Given the description of an element on the screen output the (x, y) to click on. 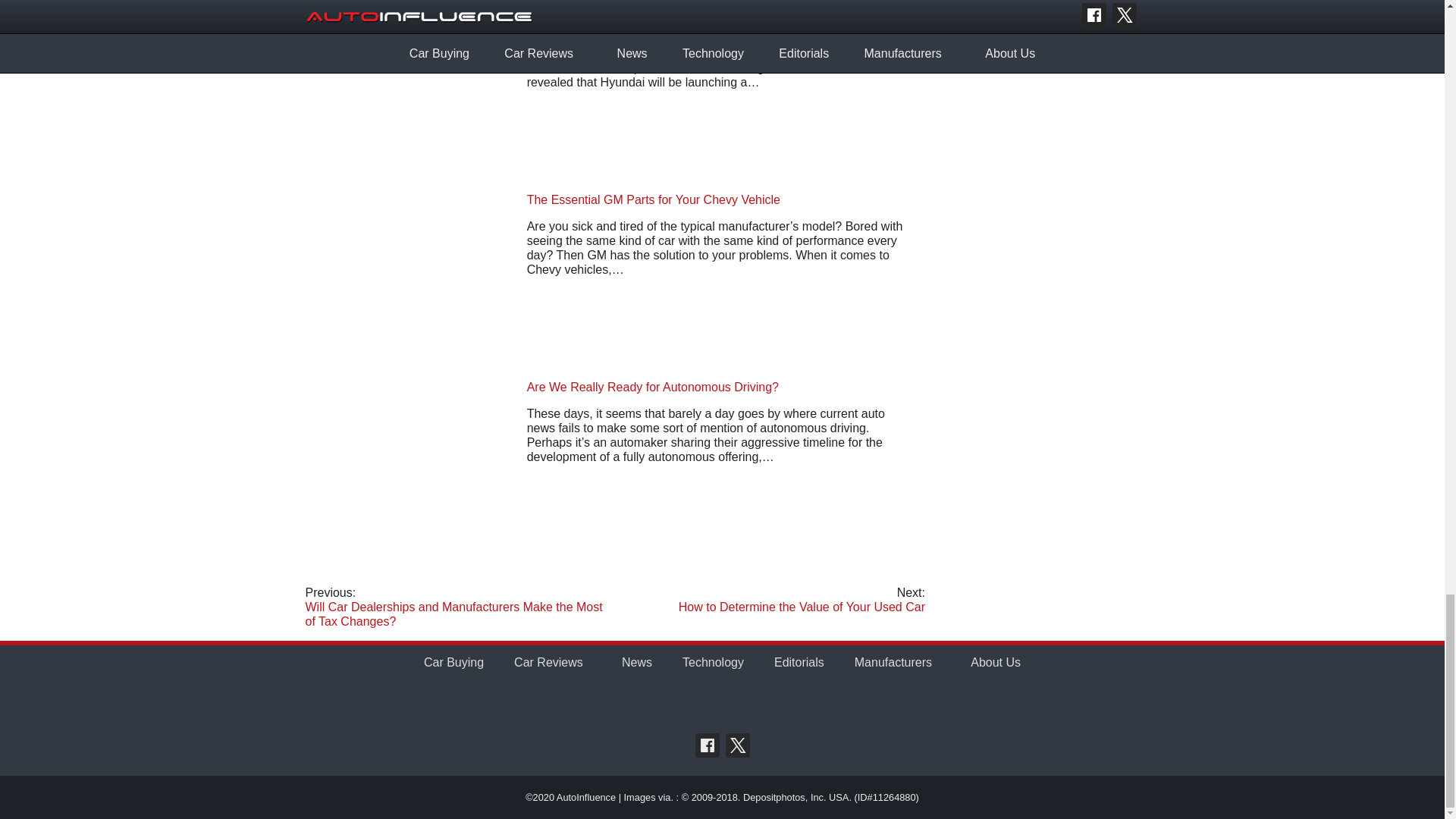
About Auto Influence (995, 662)
Editorials (798, 662)
Car Reviews (548, 662)
Facebook - AutoInfluence (706, 745)
